Given the description of an element on the screen output the (x, y) to click on. 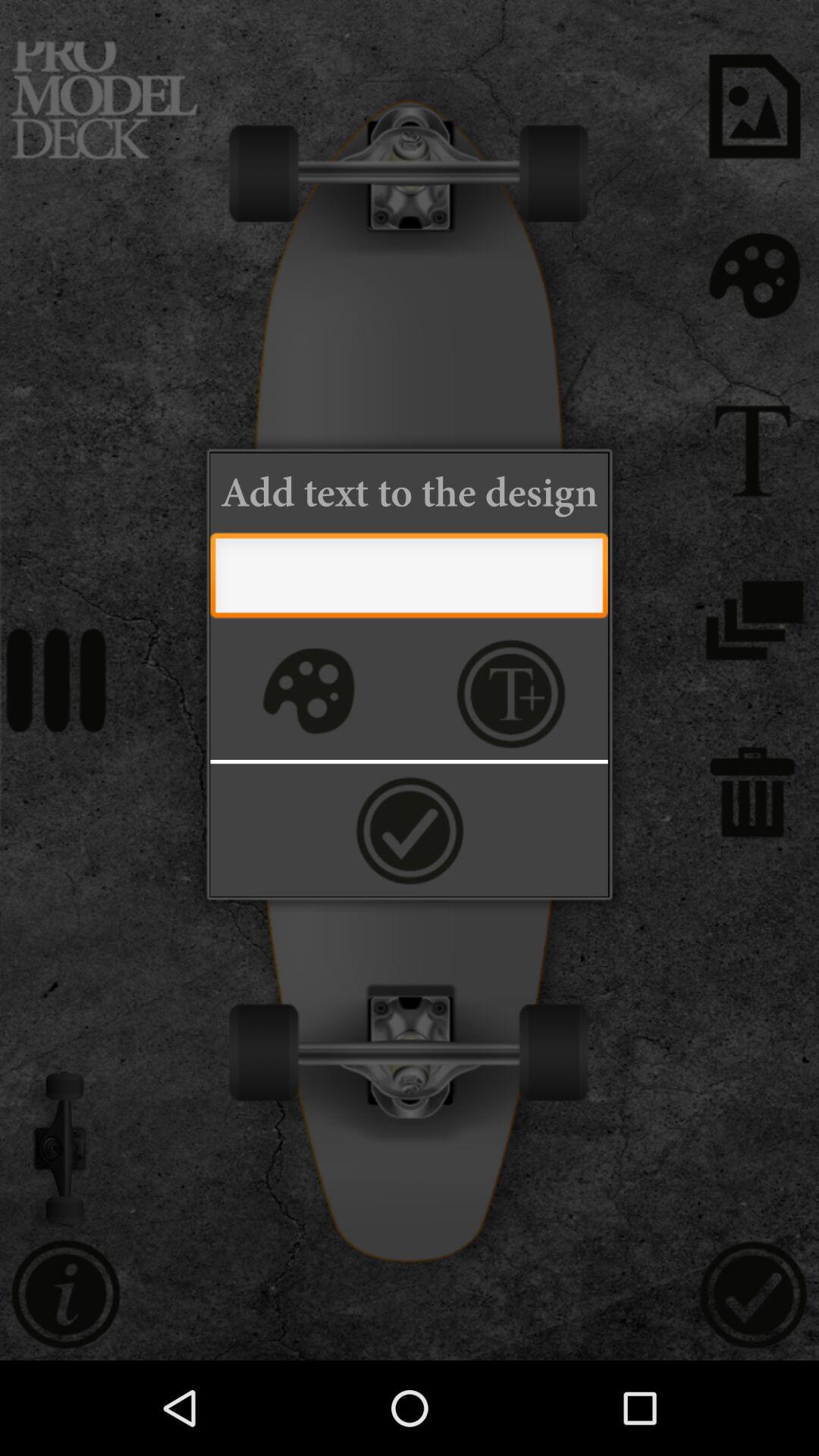
change font (511, 693)
